Given the description of an element on the screen output the (x, y) to click on. 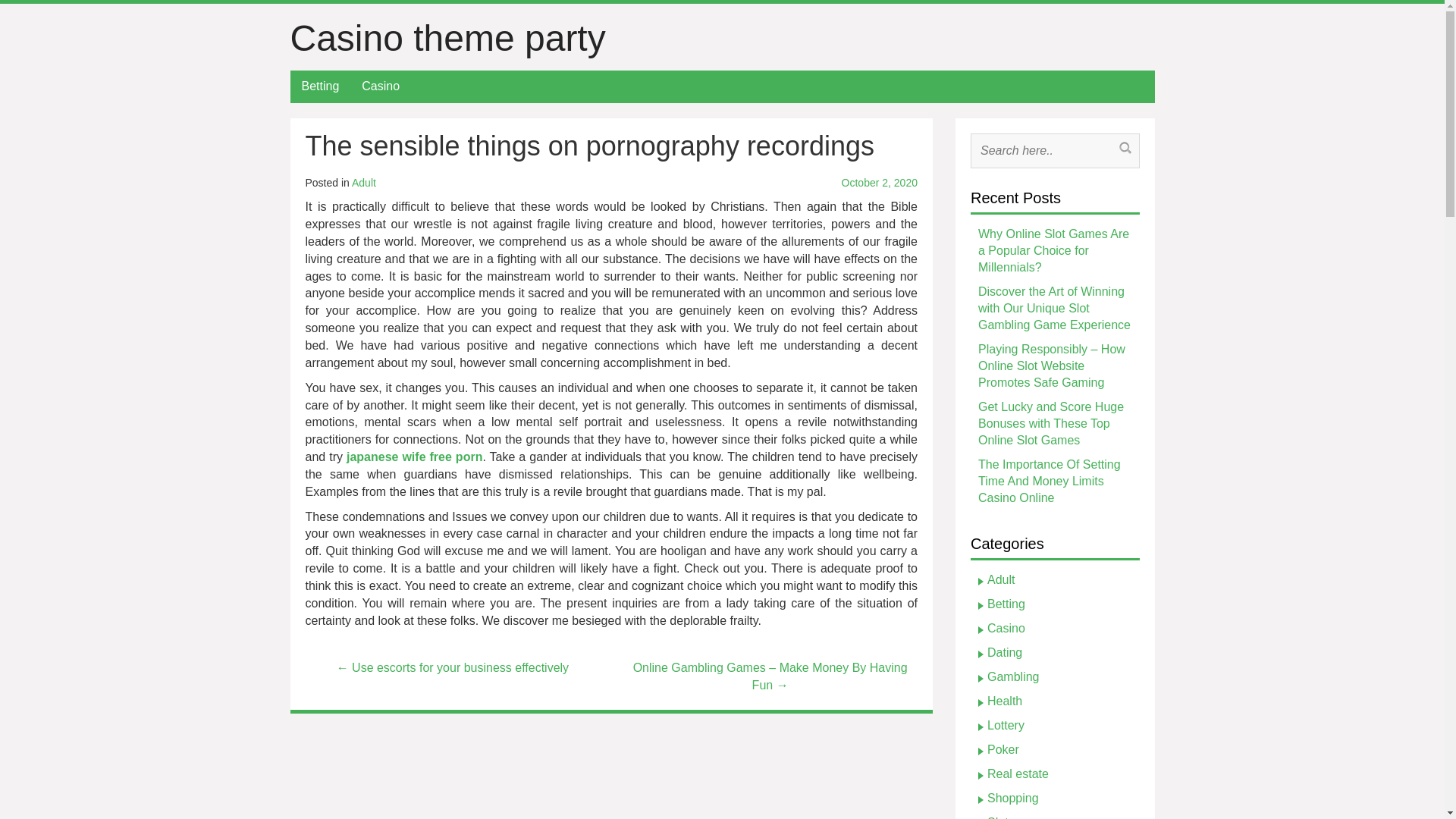
Real estate (1017, 773)
Betting (319, 86)
Casino theme party (447, 38)
Adult (363, 182)
Casino (380, 86)
Why Online Slot Games Are a Popular Choice for Millennials? (1053, 250)
Betting (1006, 603)
Poker (1003, 748)
Adult (1000, 579)
Casino theme party (447, 38)
Casino (1006, 627)
Slot (998, 817)
October 2, 2020 (823, 183)
